Given the description of an element on the screen output the (x, y) to click on. 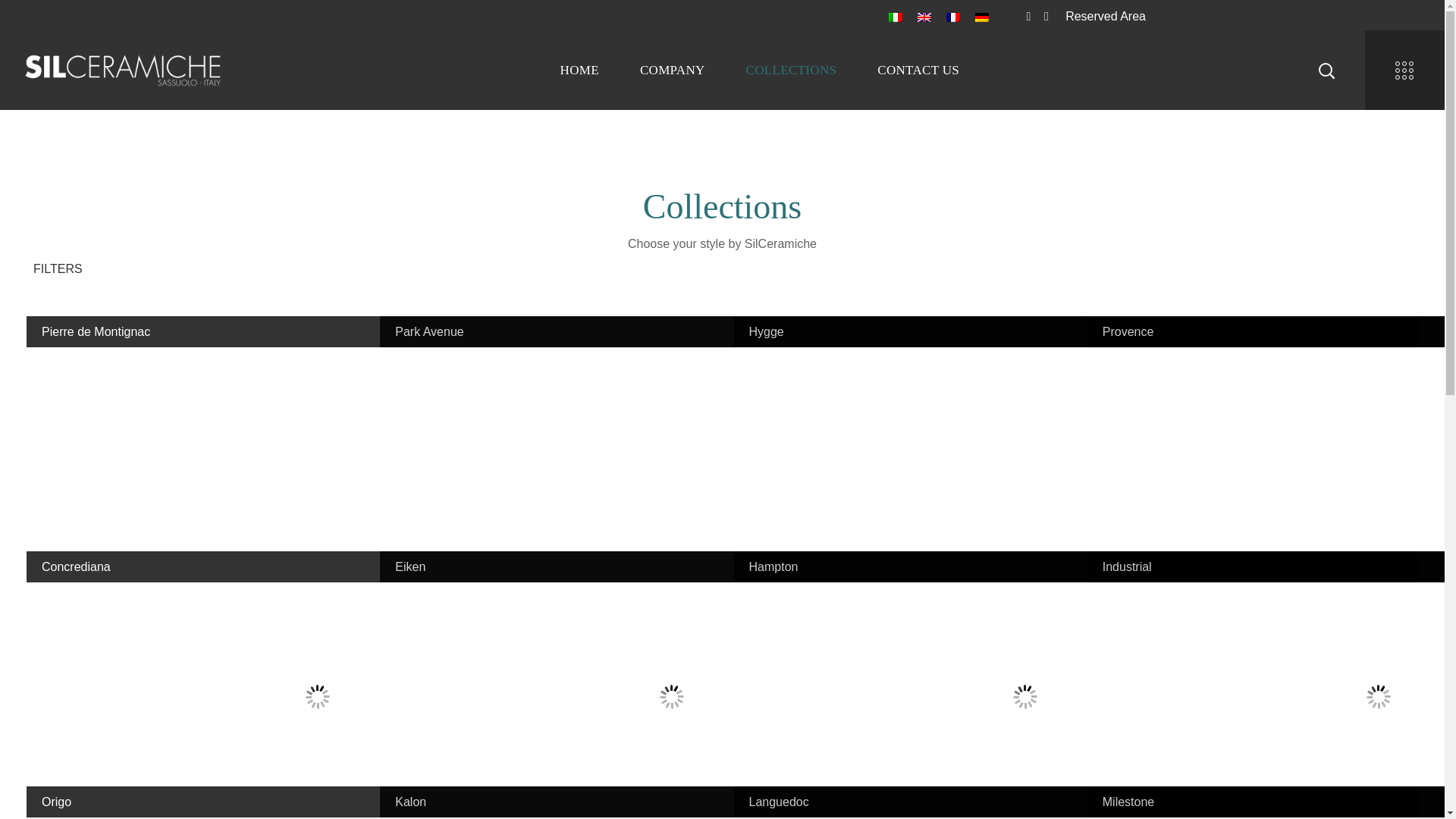
HOME (580, 69)
COLLECTIONS (791, 69)
CONTACT US (918, 69)
COMPANY (672, 69)
Reserved Area (1105, 15)
